Given the description of an element on the screen output the (x, y) to click on. 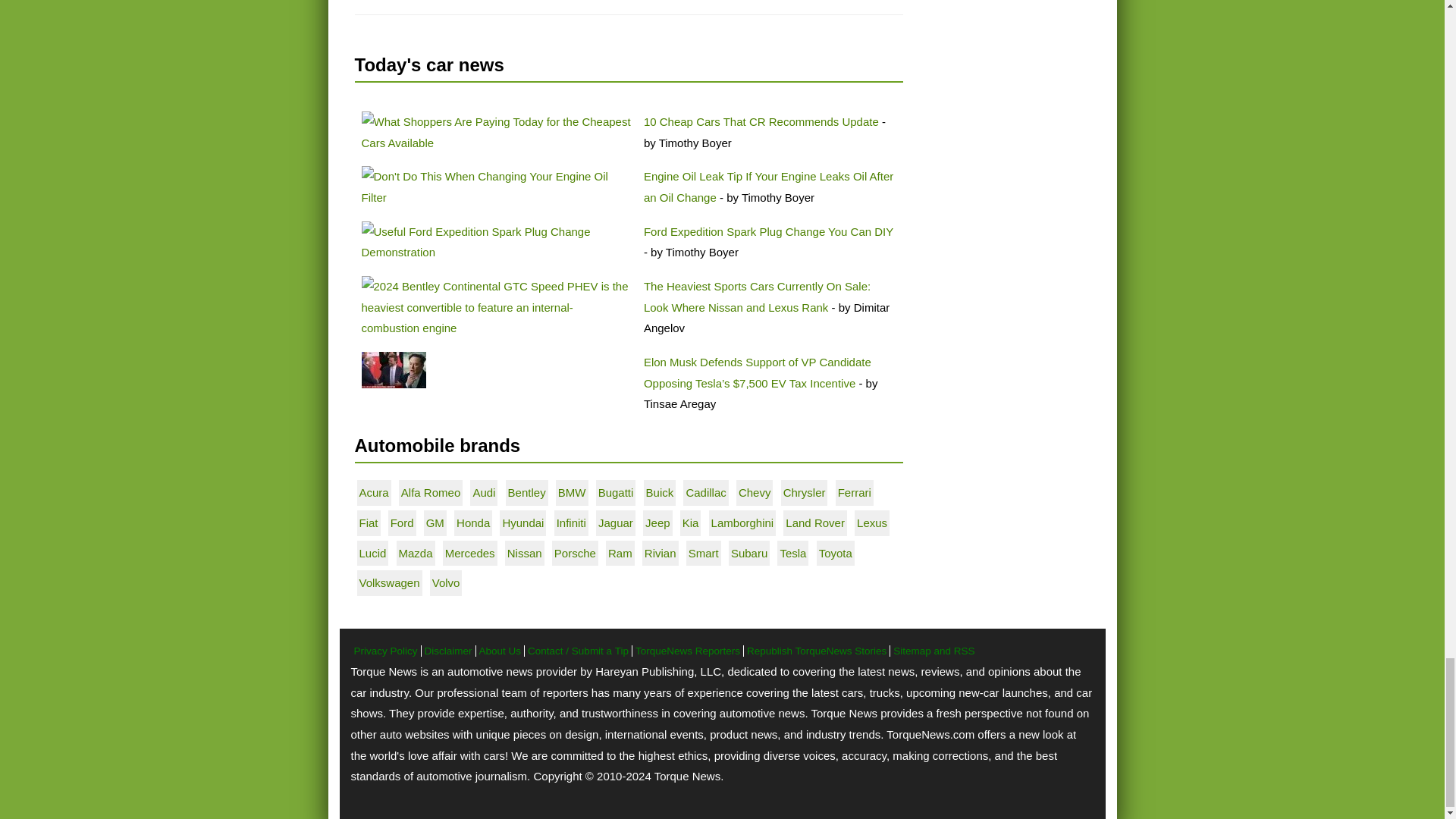
Updated Cheap Car Listing from Consumer Reports (495, 132)
Learn DIY Repairs on Your Ford Truck (495, 241)
Sometimes Your Hands are The Best Tool (495, 187)
2024 Bentley Continental GTC Speed PHEV (495, 307)
